Given the description of an element on the screen output the (x, y) to click on. 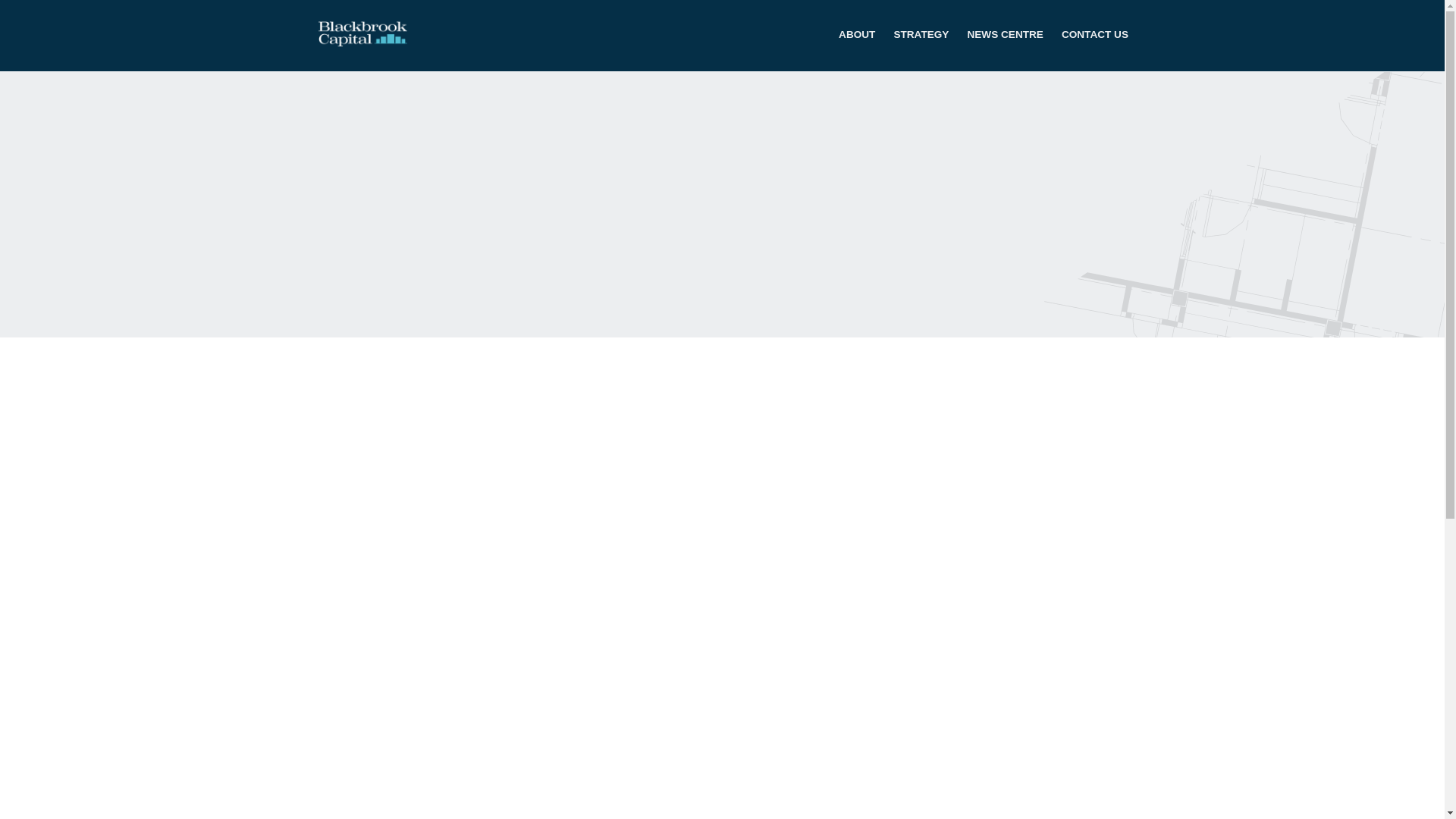
CONTACT US (1094, 34)
STRATEGY (921, 34)
ABOUT (856, 34)
NEWS CENTRE (1004, 34)
Blackbrook Capital (367, 33)
